Given the description of an element on the screen output the (x, y) to click on. 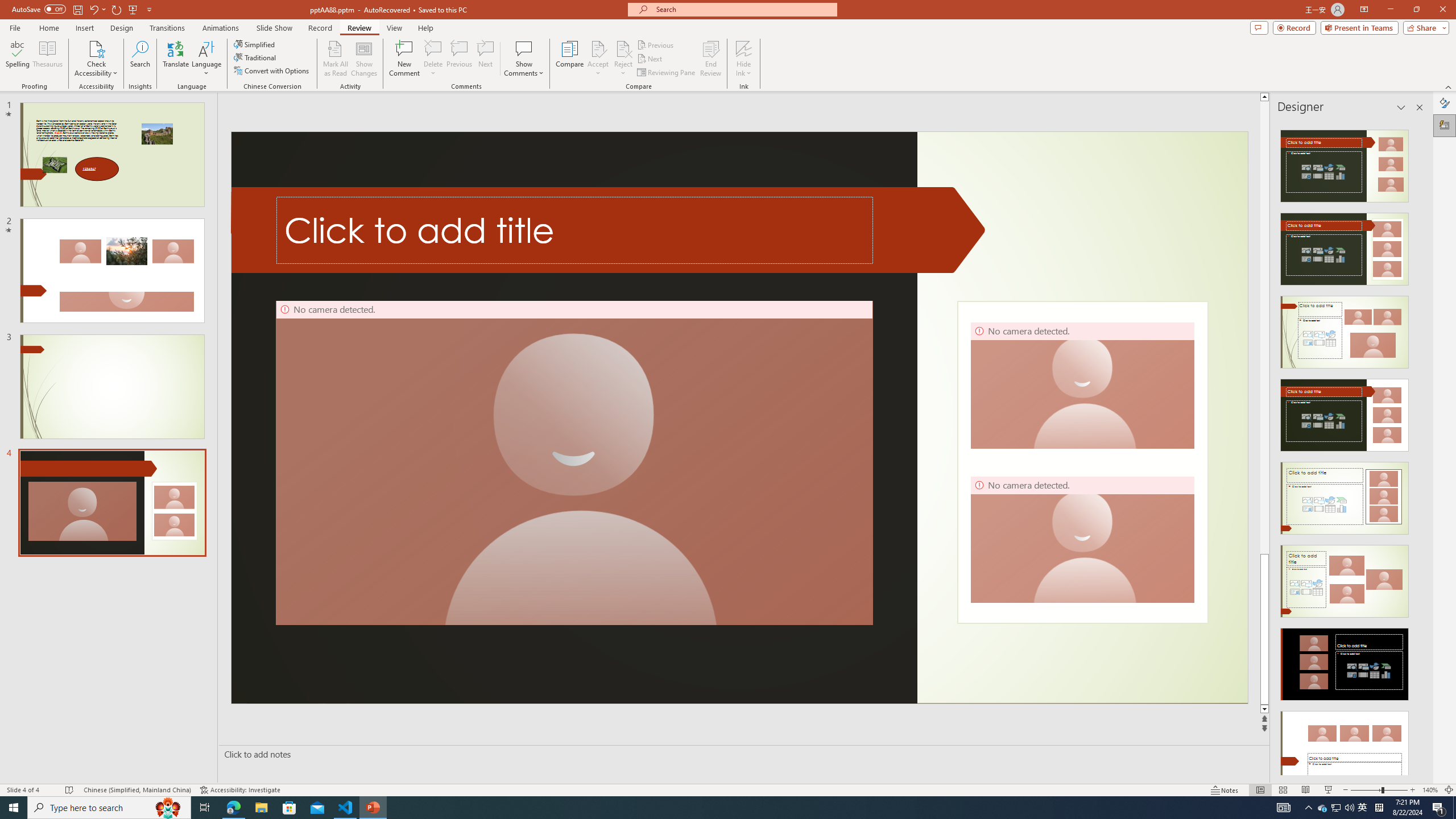
Convert with Options... (272, 69)
Language (206, 58)
Next (649, 58)
Zoom 140% (1430, 790)
